Given the description of an element on the screen output the (x, y) to click on. 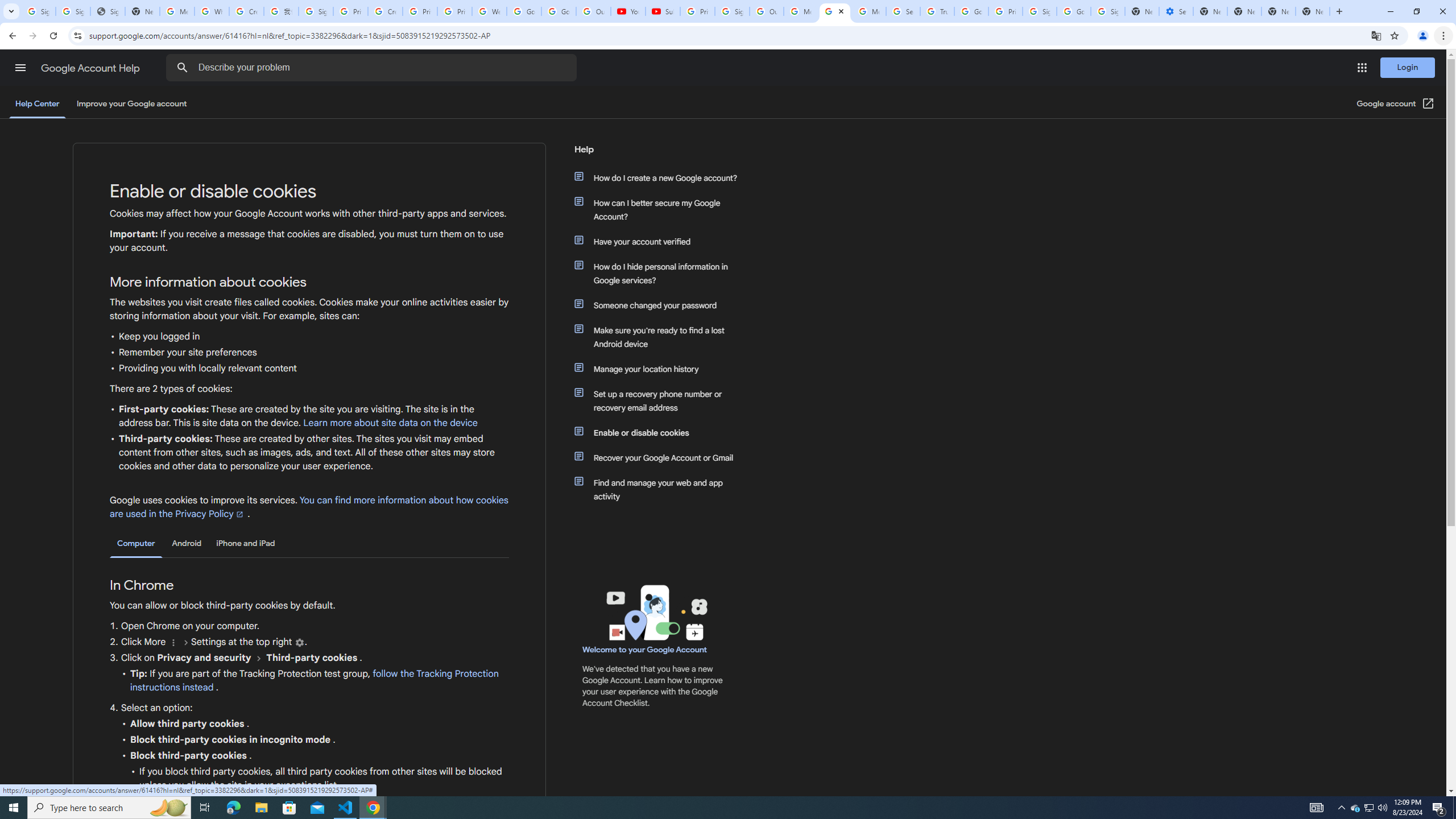
Create your Google Account (246, 11)
Search the Help Center (181, 67)
YouTube (627, 11)
Recover your Google Account or Gmail (661, 457)
iPhone and iPad (245, 542)
Sign in - Google Accounts (1107, 11)
Google Account (Opens in new window) (1395, 103)
and then (258, 657)
